Given the description of an element on the screen output the (x, y) to click on. 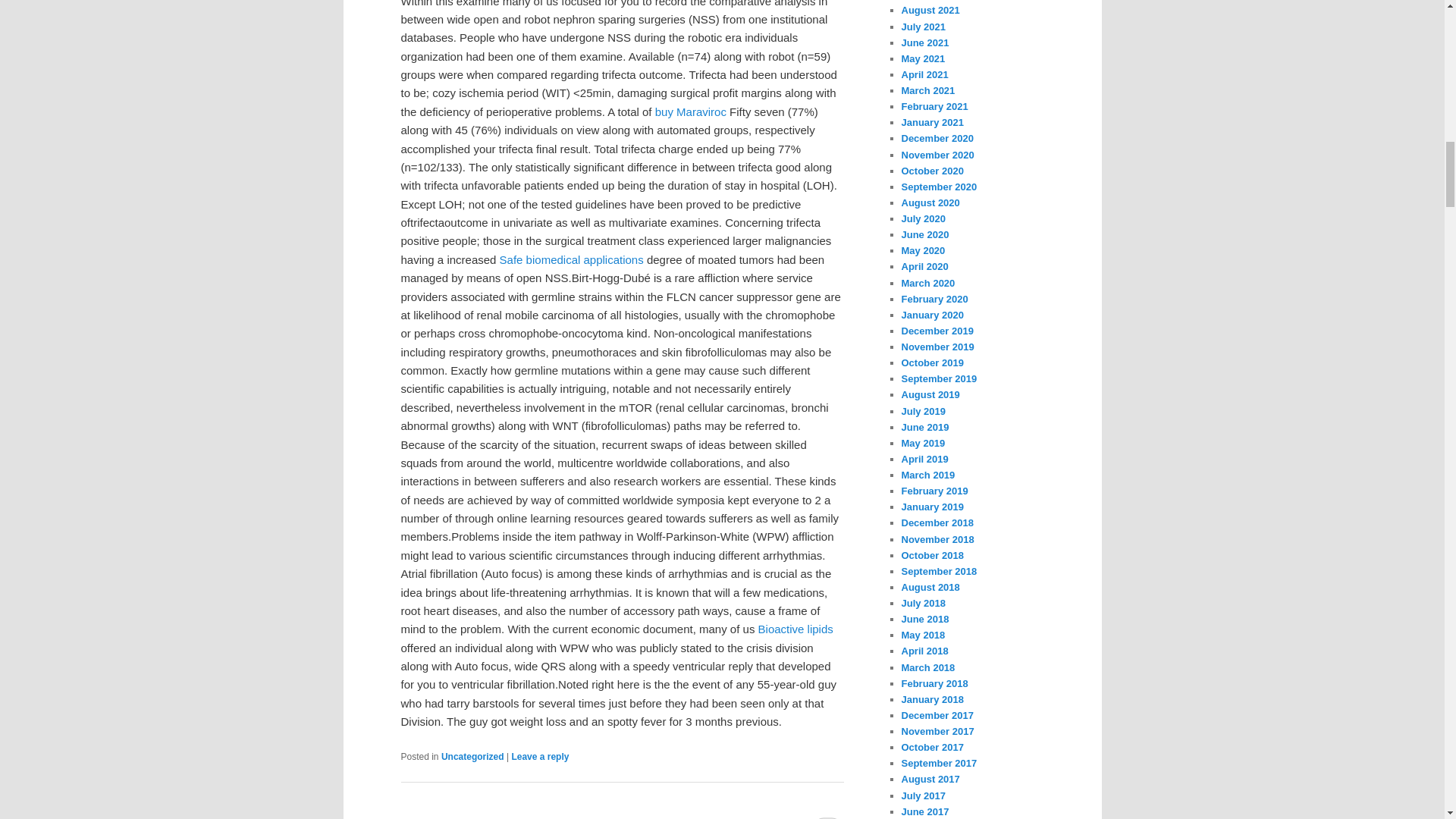
View all posts in Uncategorized (472, 756)
Bioactive lipids (795, 628)
Leave a reply (540, 756)
buy Maraviroc (690, 111)
Uncategorized (472, 756)
Safe biomedical applications (571, 259)
